Given the description of an element on the screen output the (x, y) to click on. 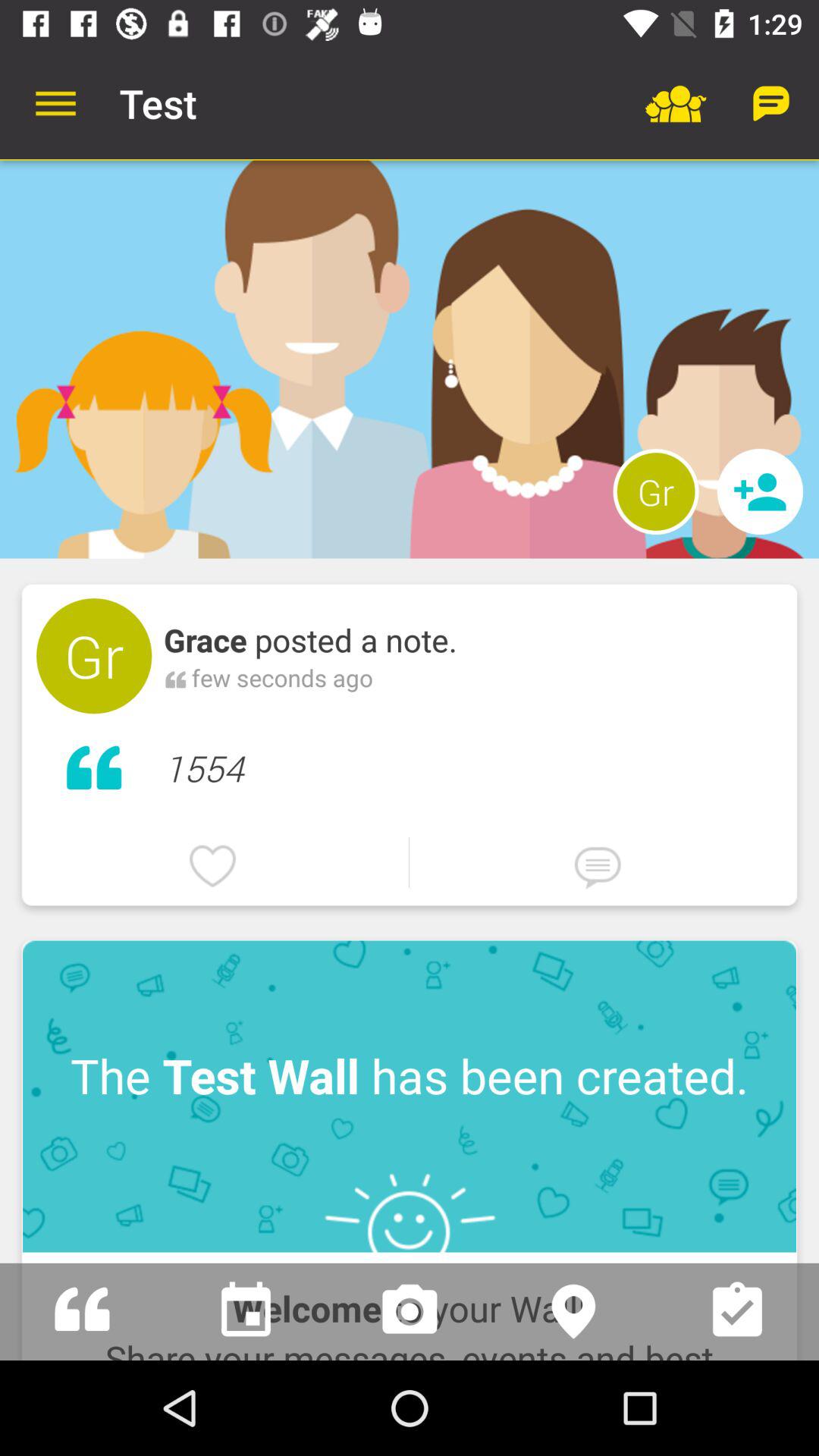
tap the icon above 1554 item (655, 491)
